Given the description of an element on the screen output the (x, y) to click on. 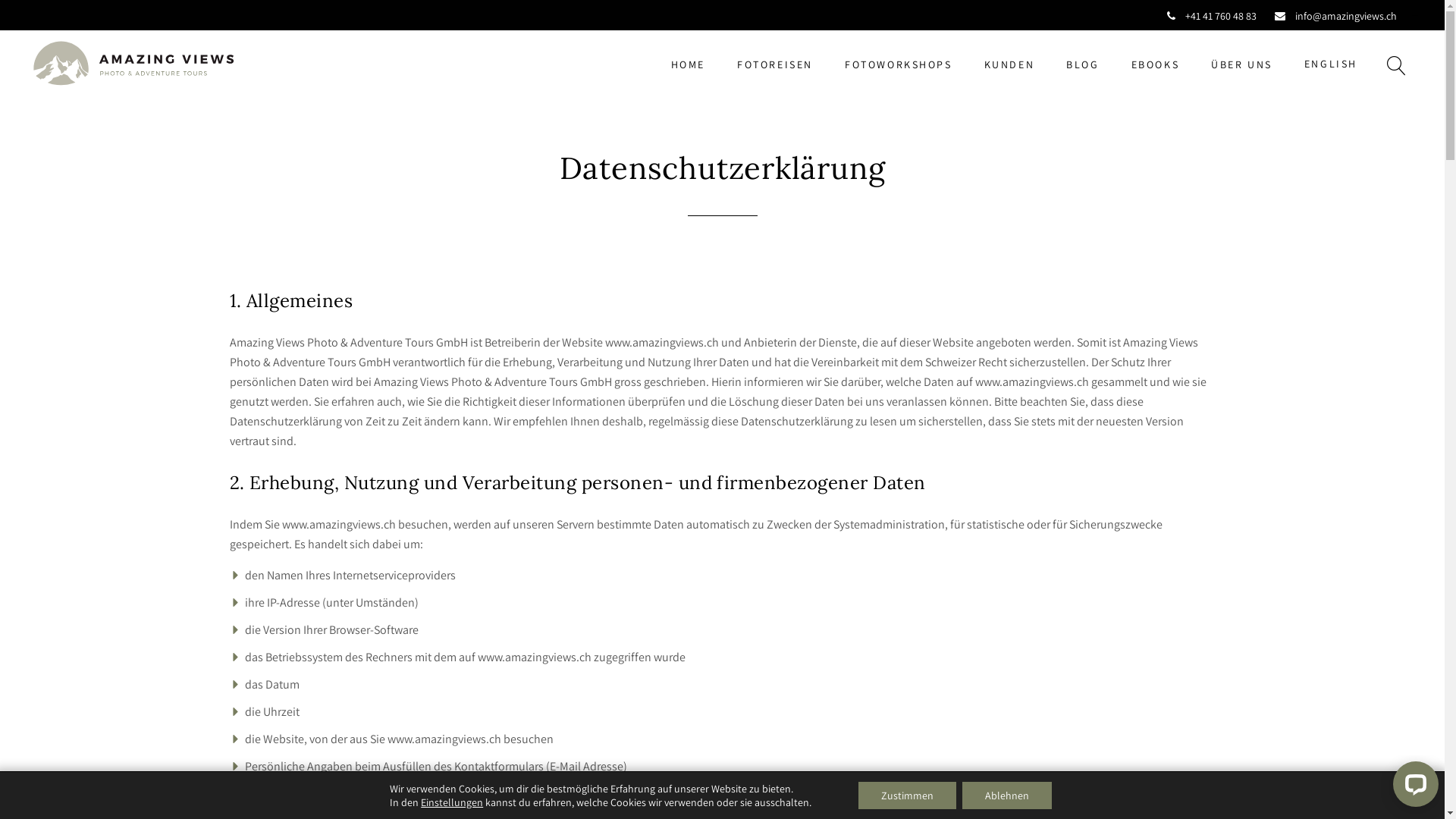
KUNDEN Element type: text (1009, 64)
info@amazingviews.ch Element type: text (1335, 15)
Ablehnen Element type: text (1006, 795)
HOME Element type: text (688, 64)
ENGLISH Element type: text (1330, 64)
FOTOWORKSHOPS Element type: text (898, 64)
FOTOREISEN Element type: text (774, 64)
EBOOKS Element type: text (1155, 64)
Einstellungen Element type: text (451, 802)
Zustimmen Element type: text (907, 795)
BLOG Element type: text (1082, 64)
+41 41 760 48 83 Element type: text (1211, 15)
